Given the description of an element on the screen output the (x, y) to click on. 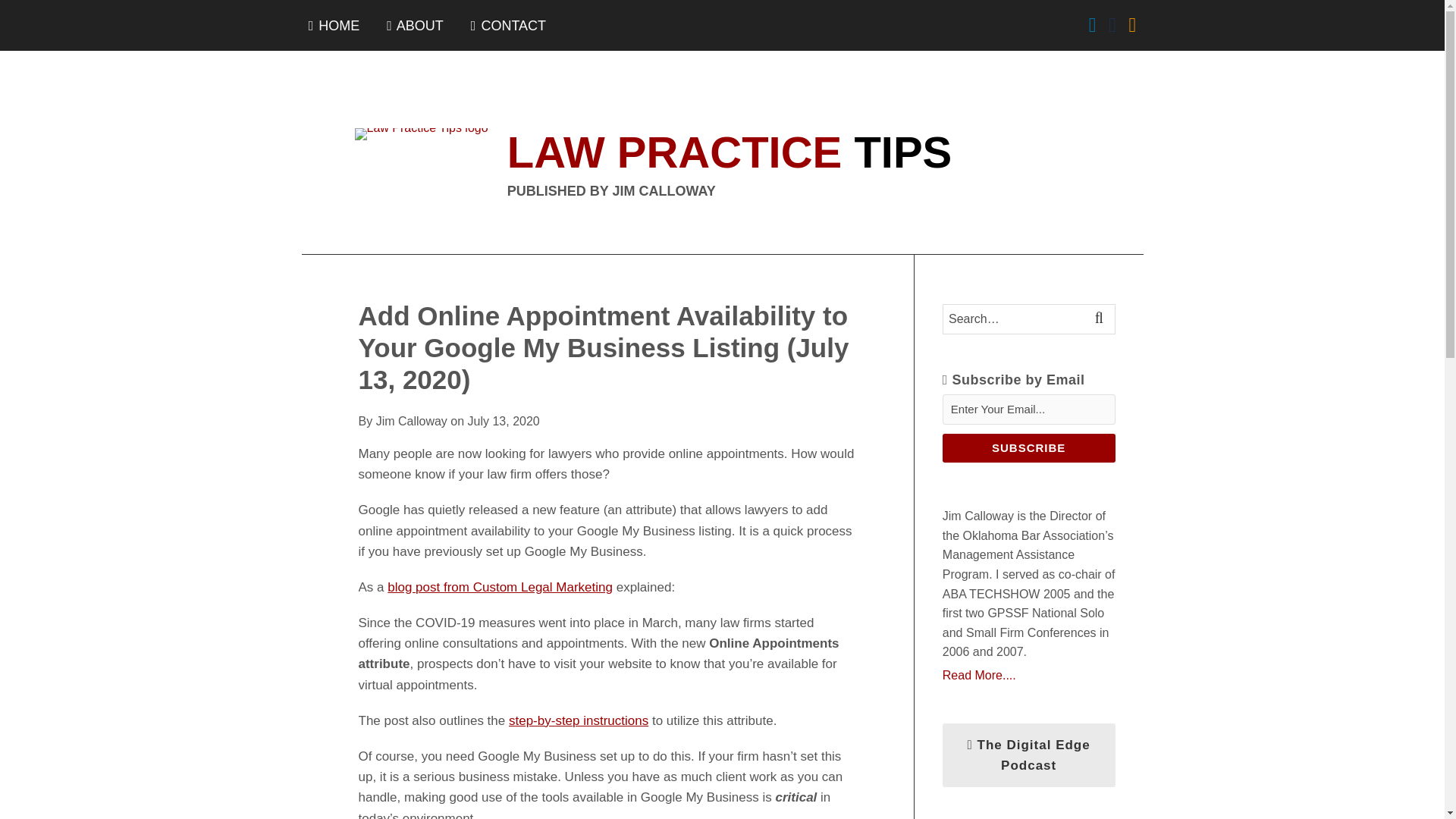
HOME (333, 25)
blog post from Custom Legal Marketing (499, 586)
SEARCH (1101, 318)
Subscribe (1028, 448)
CONTACT (508, 25)
step-by-step instructions (577, 720)
Subscribe (1028, 448)
ABOUT (415, 25)
Read More.... (1028, 675)
The Digital Edge Podcast (1028, 755)
